Given the description of an element on the screen output the (x, y) to click on. 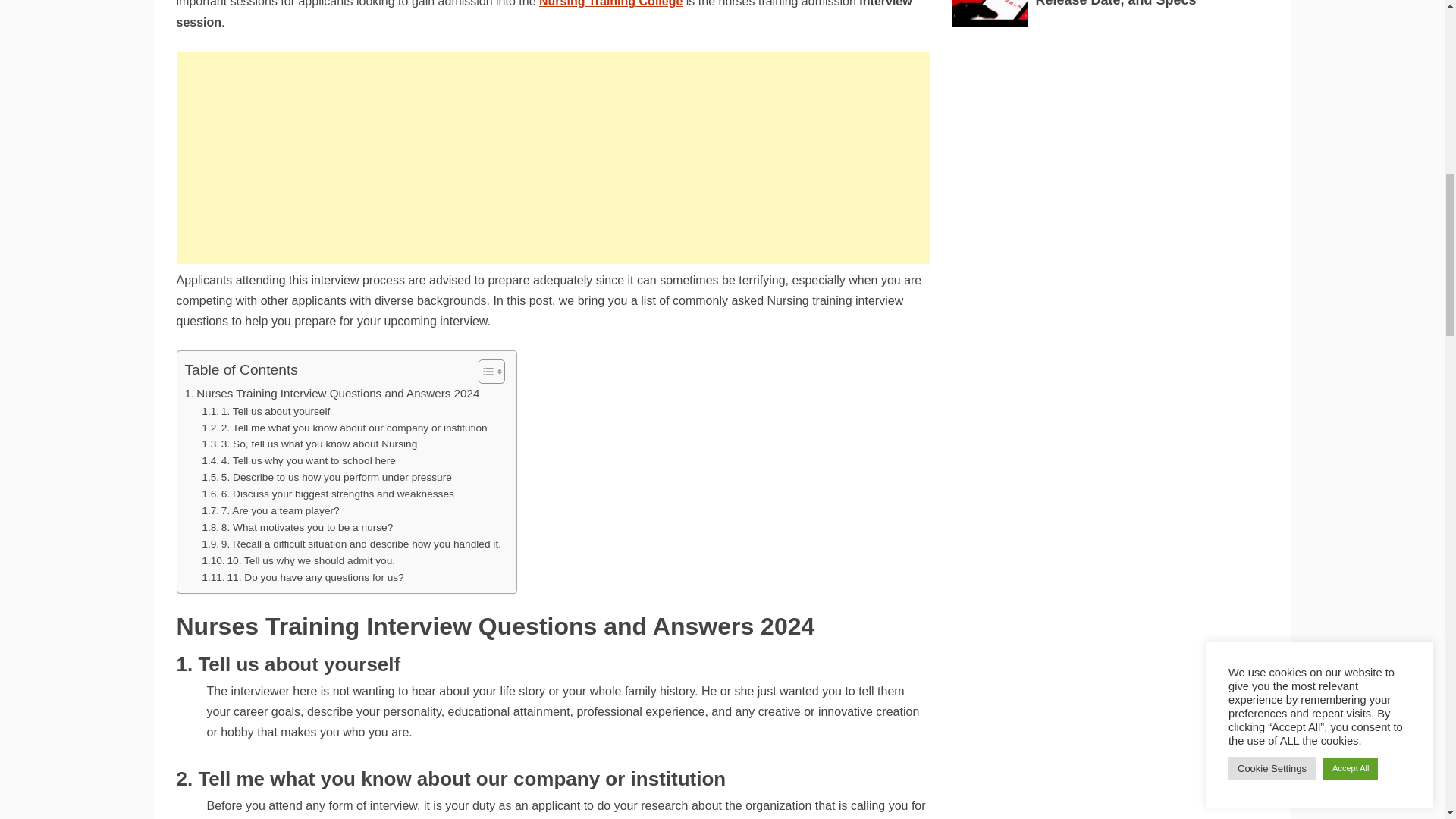
8. What motivates you to be a nurse? (297, 527)
7. Are you a team player? (270, 510)
3. So, tell us what you know about Nursing (309, 443)
Nursing Training College (610, 3)
2. Tell me what you know about our company or institution (344, 428)
1. Tell us about yourself (266, 411)
7. Are you a team player? (270, 510)
10. Tell us why we should admit you. (298, 560)
